Given the description of an element on the screen output the (x, y) to click on. 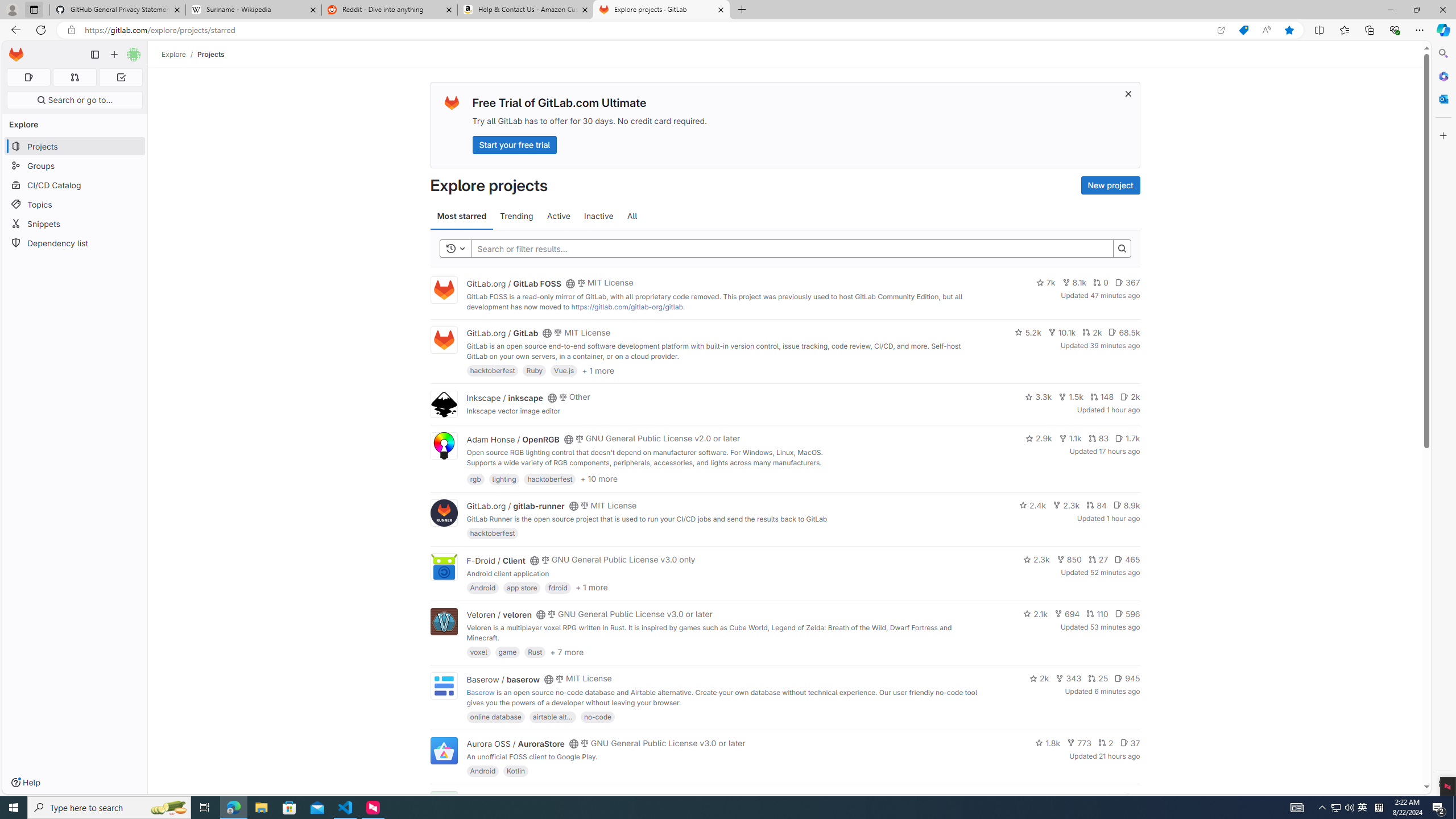
To-Do list 0 (120, 76)
68.5k (1124, 331)
airtable alt... (552, 715)
1.4k (1054, 797)
1.5k (1070, 396)
37 (1129, 742)
8.9k (1126, 504)
1.1k (1069, 438)
343 (1068, 678)
Baserow / baserow (502, 678)
Toggle history (455, 248)
